Given the description of an element on the screen output the (x, y) to click on. 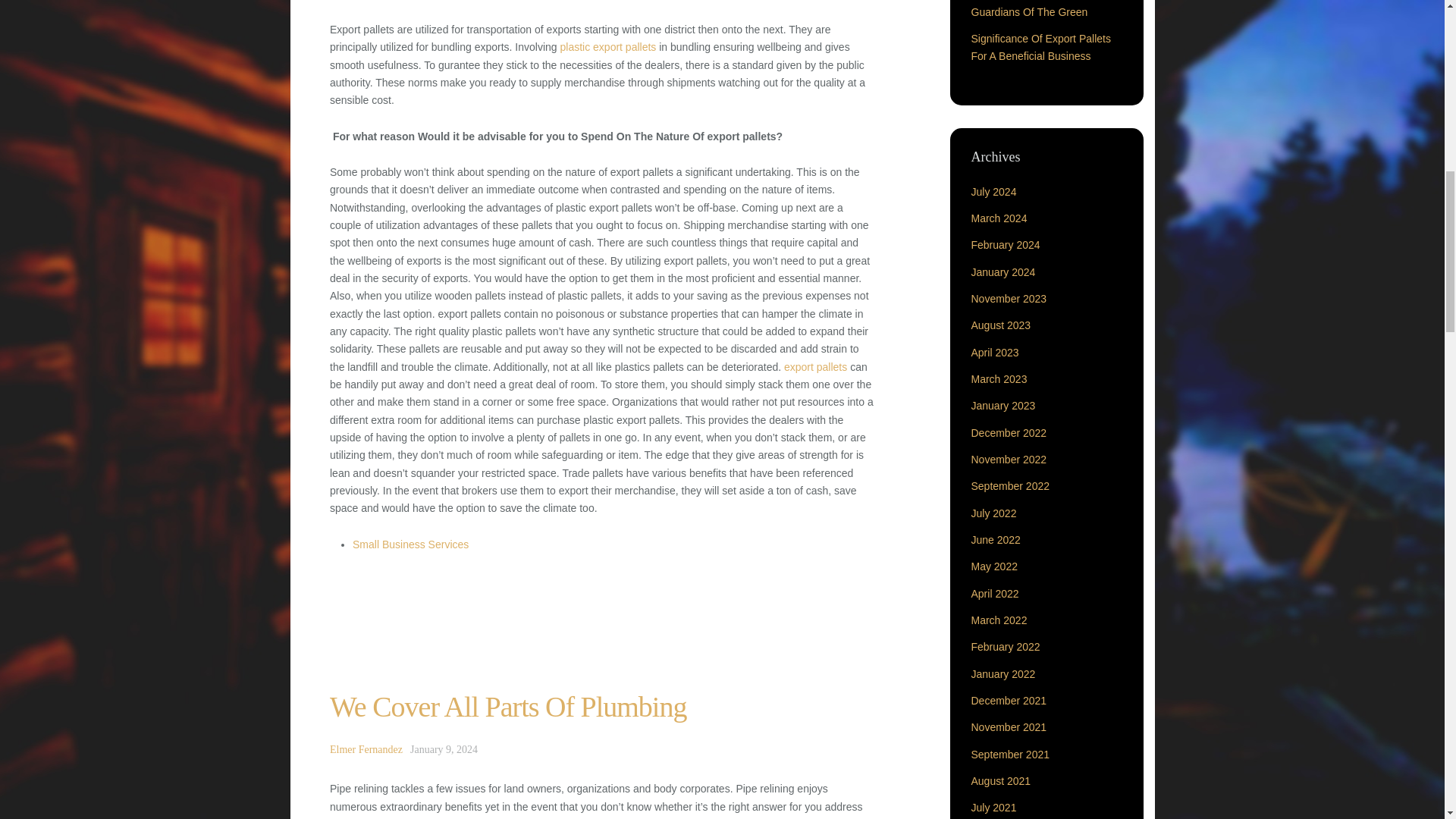
plastic export pallets (607, 46)
November 2023 (1008, 298)
We Cover All Parts Of Plumbing (507, 706)
December 2022 (1008, 432)
Elmer Fernandez (366, 749)
export pallets (815, 367)
August 2023 (1000, 325)
November 2022 (1008, 459)
June 2022 (995, 539)
March 2023 (998, 378)
